Given the description of an element on the screen output the (x, y) to click on. 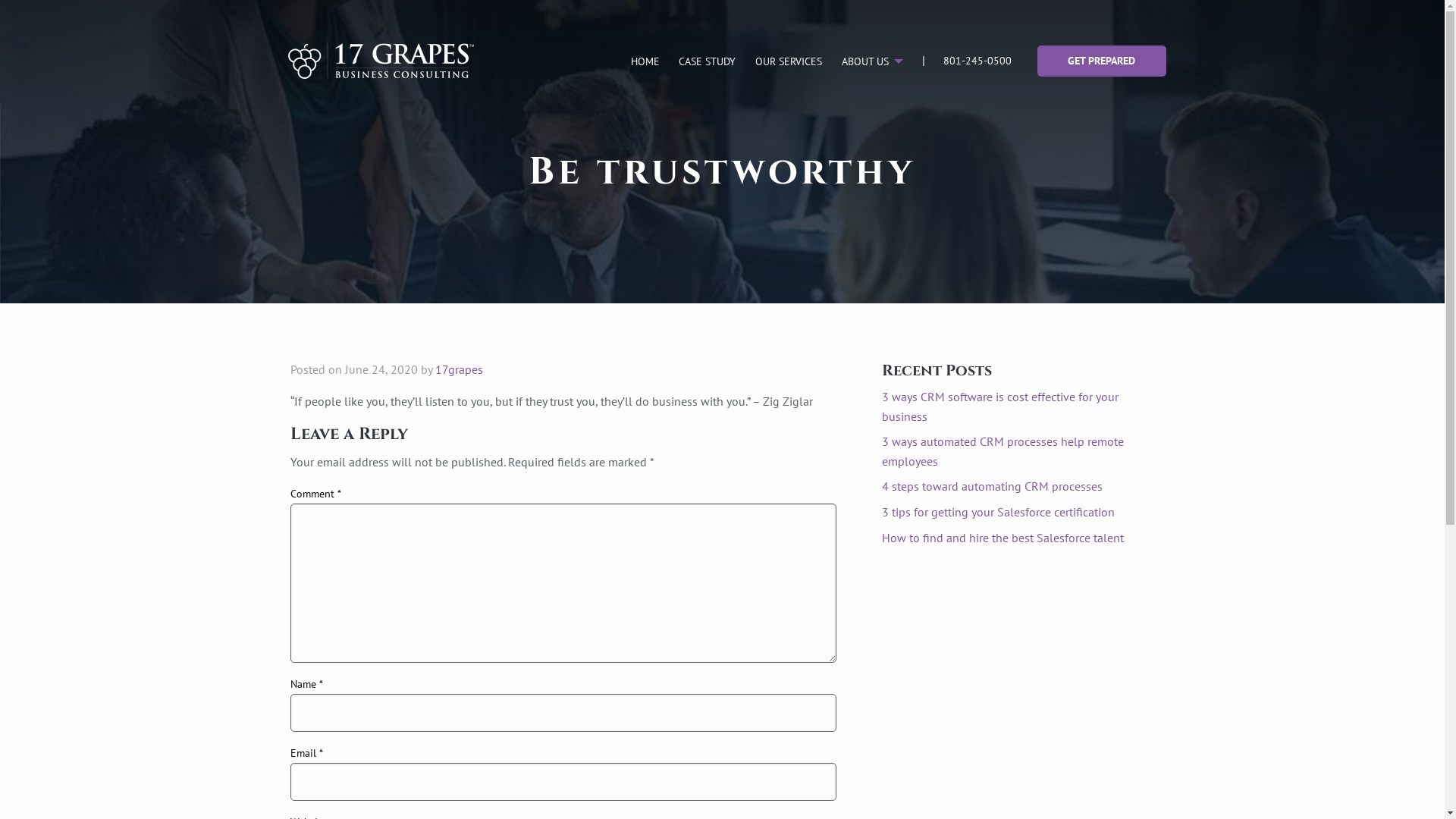
3 ways CRM software is cost effective for your business Element type: text (999, 406)
How to find and hire the best Salesforce talent Element type: text (1002, 537)
4 steps toward automating CRM processes Element type: text (991, 485)
ABOUT US Element type: text (868, 60)
OUR SERVICES Element type: text (788, 60)
3 ways automated CRM processes help remote employees Element type: text (1002, 450)
GET PREPARED Element type: text (1101, 60)
801-245-0500 Element type: text (977, 60)
CASE STUDY Element type: text (707, 60)
17grapes Element type: text (459, 368)
HOME Element type: text (645, 60)
3 tips for getting your Salesforce certification Element type: text (997, 511)
